Given the description of an element on the screen output the (x, y) to click on. 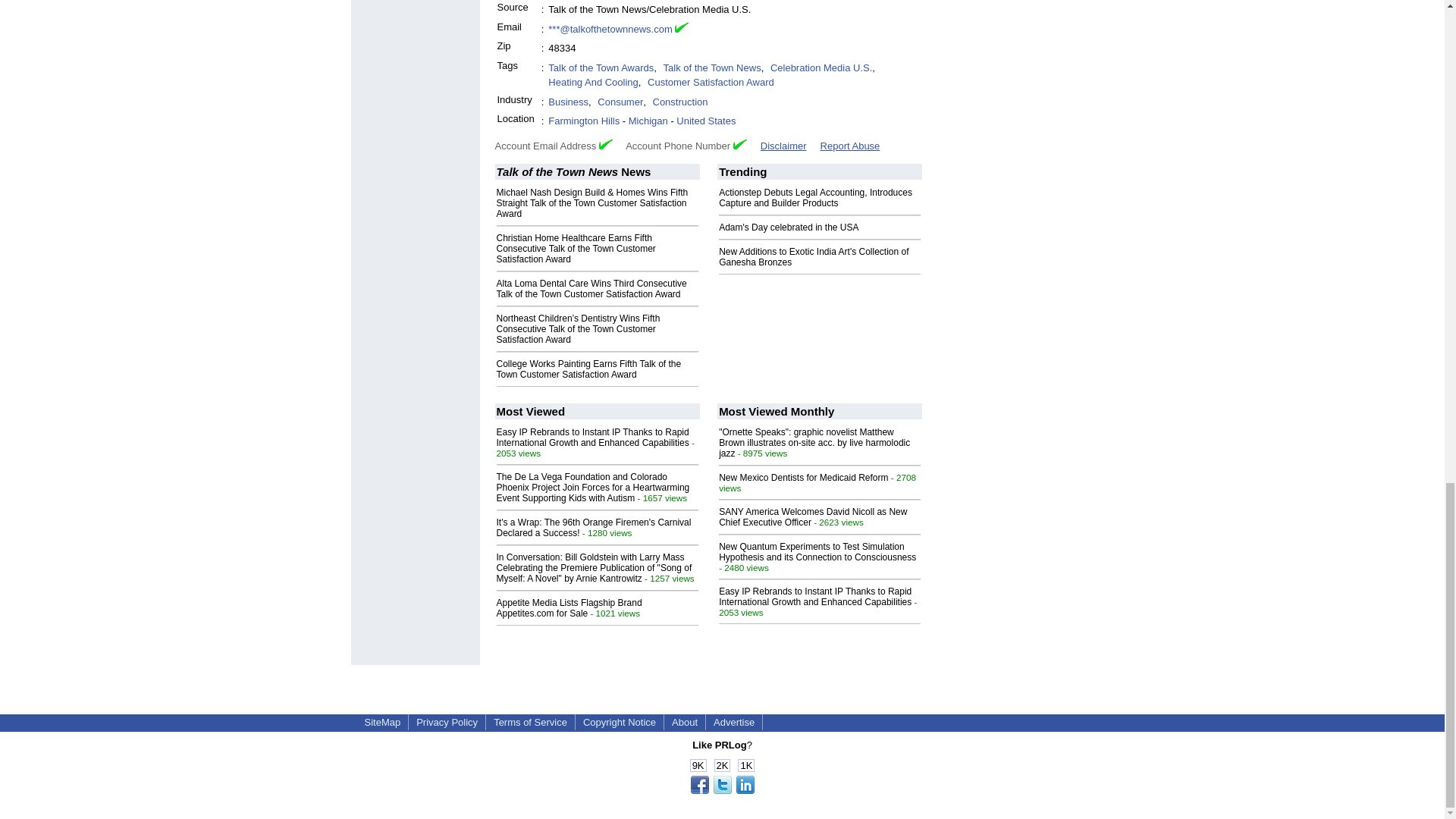
Share this page! (722, 790)
Email Verified (681, 29)
Verified (739, 144)
Verified (605, 144)
